Given the description of an element on the screen output the (x, y) to click on. 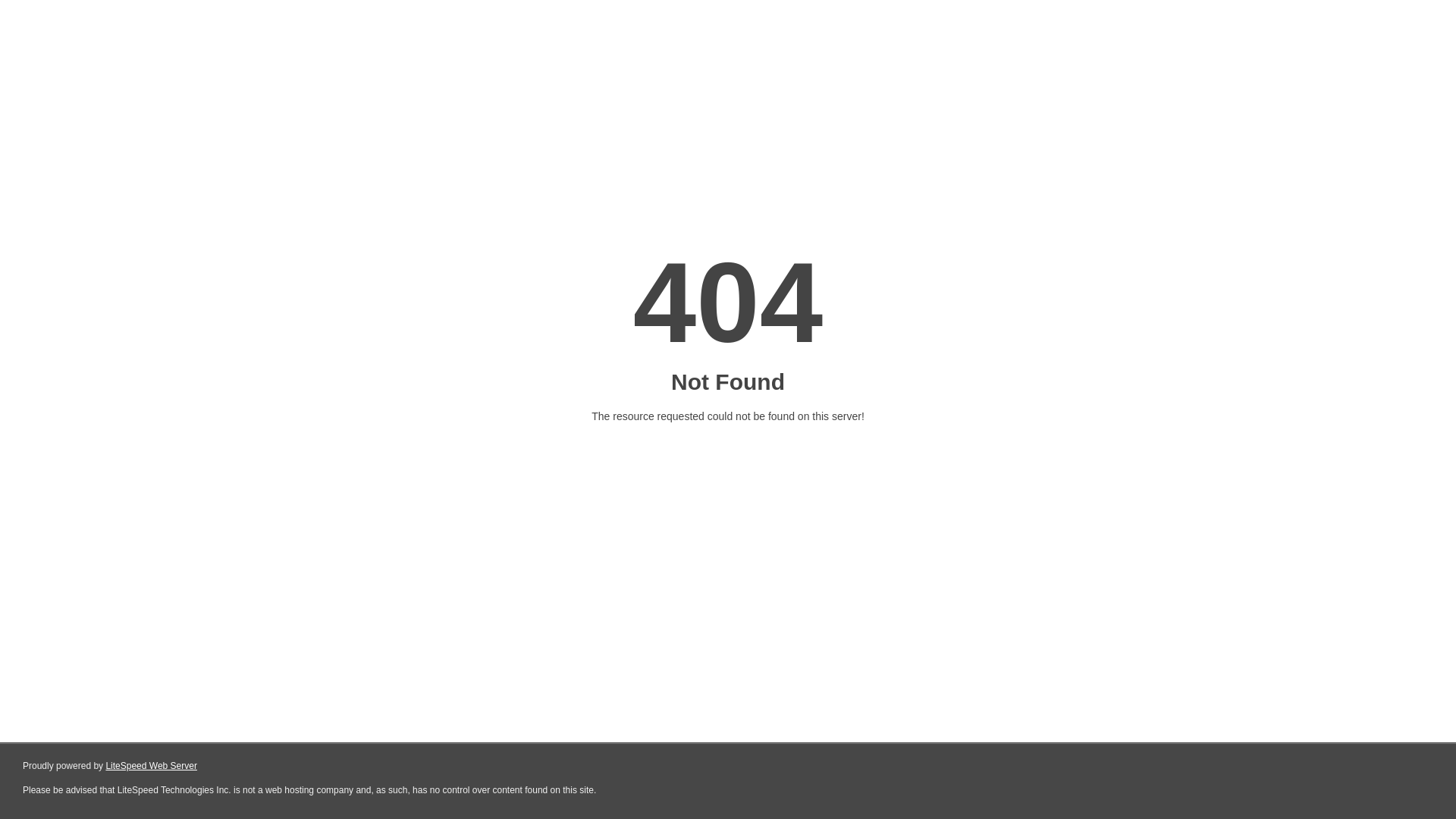
LiteSpeed Web Server Element type: text (151, 765)
